Given the description of an element on the screen output the (x, y) to click on. 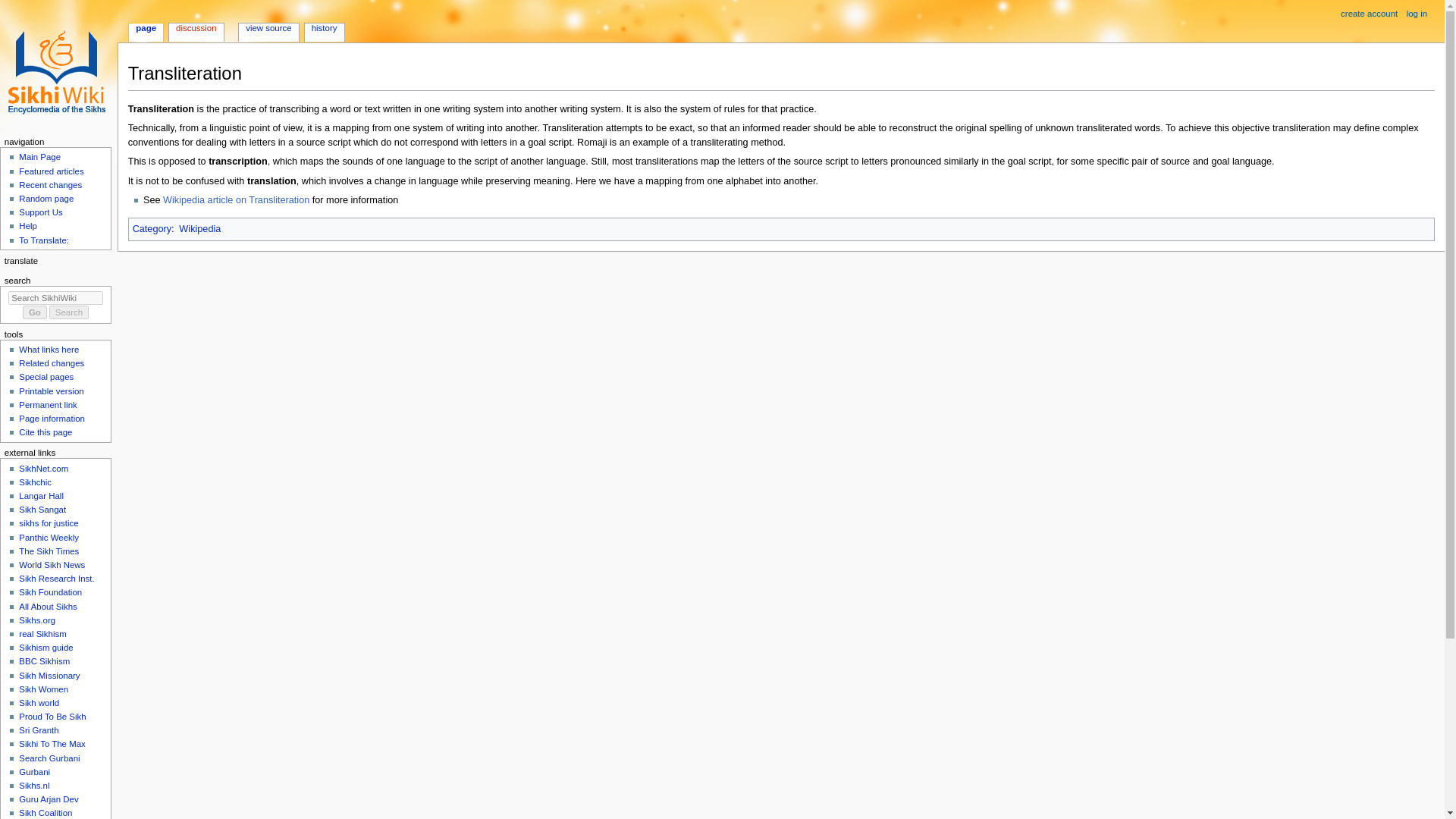
Go (34, 312)
Featured articles (50, 171)
Langar Hall (41, 495)
Wikipedia article on Transliteration (235, 199)
create account (1368, 14)
Search (68, 312)
Permanent link (47, 404)
history (323, 29)
What links here (48, 348)
